Given the description of an element on the screen output the (x, y) to click on. 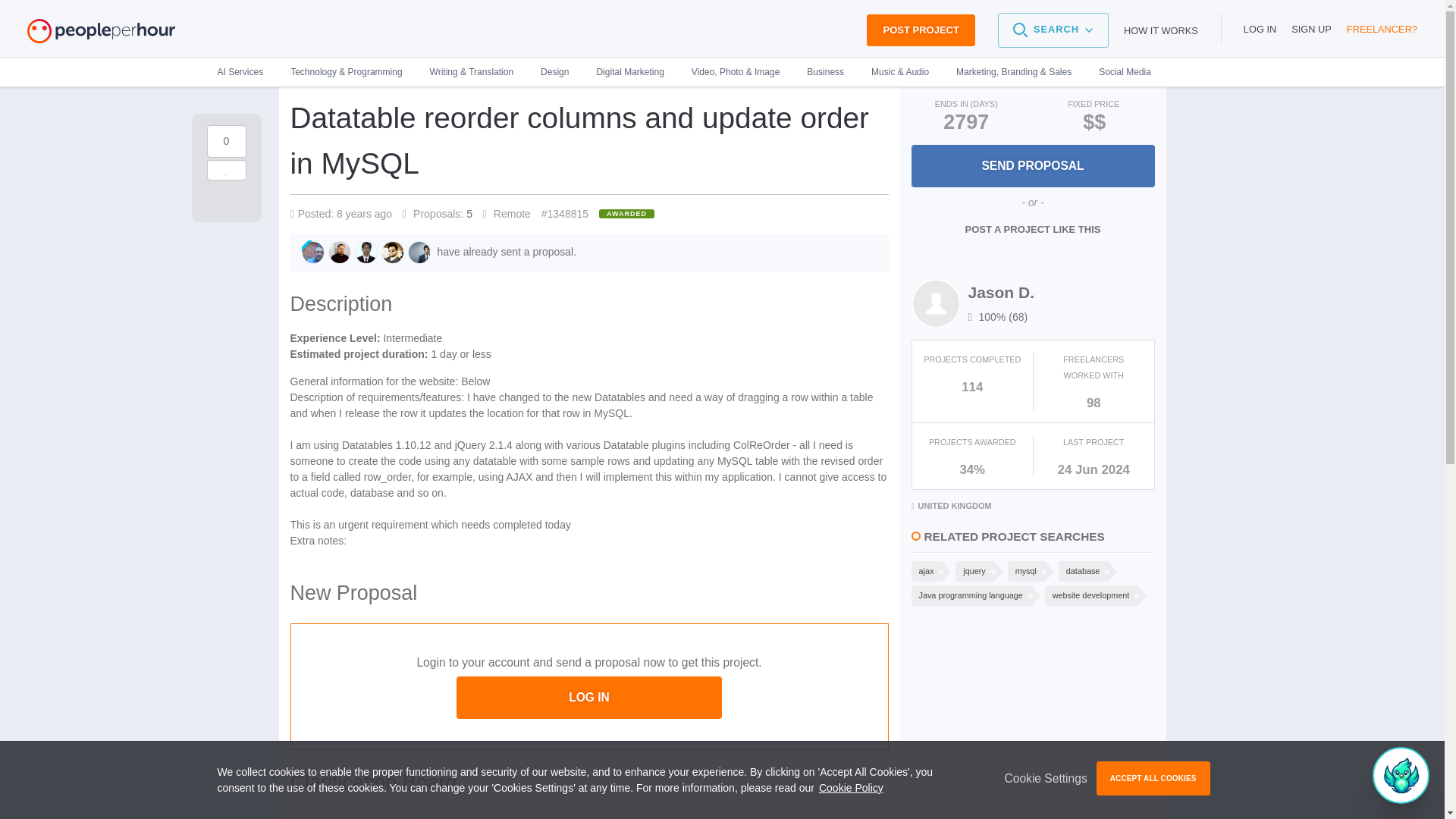
ASK A QUESTION (837, 784)
POST A PROJECT LIKE THIS (1033, 229)
Datatable reorder columns and update order in MySQL (588, 144)
The project can be done remotely from any location (507, 214)
Jason D. (1000, 292)
jquery (972, 571)
SIGN UP (1311, 28)
Jason D. (1000, 292)
database (1080, 571)
Become a freelancer (1381, 28)
